Given the description of an element on the screen output the (x, y) to click on. 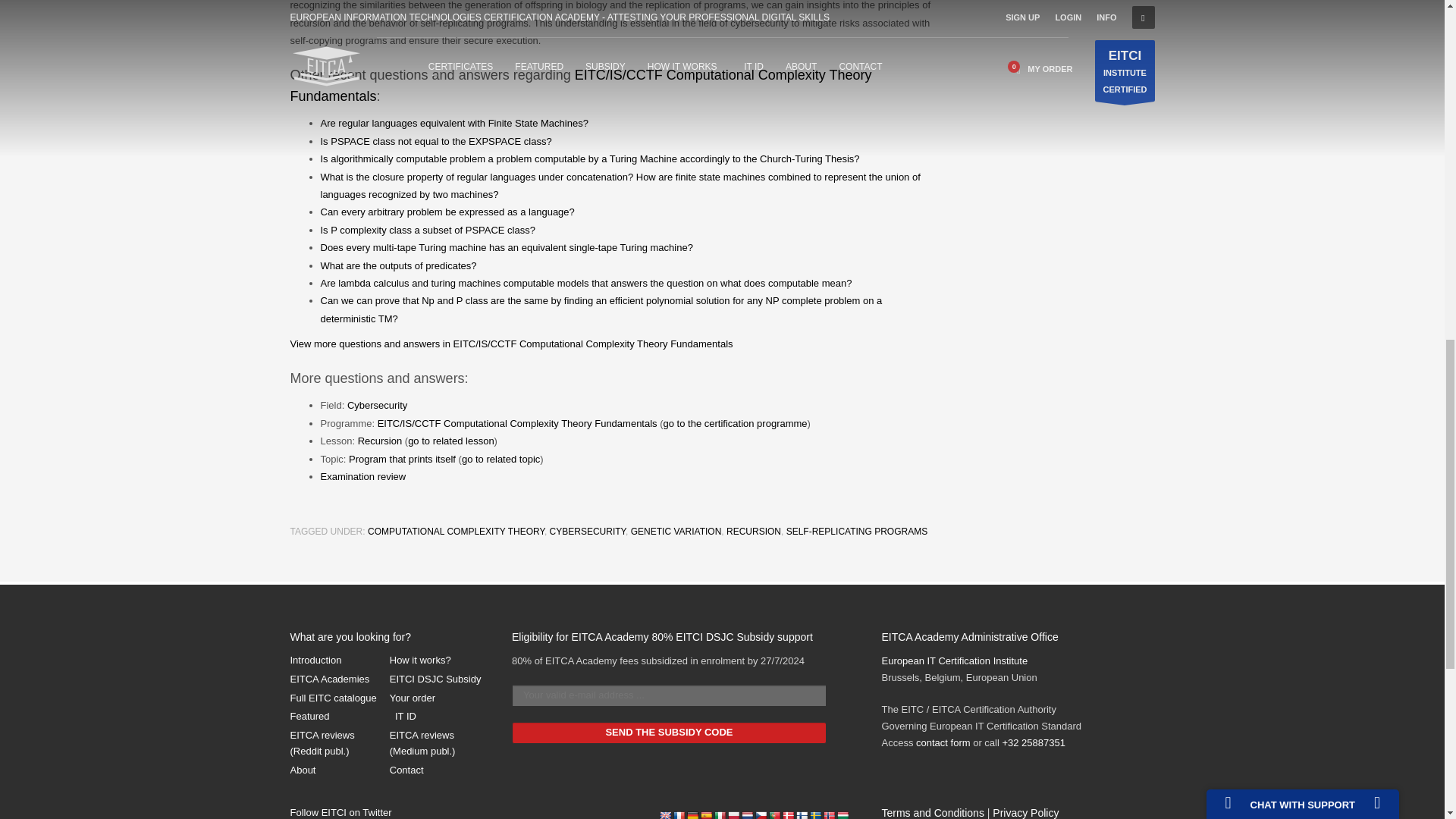
SEND THE SUBSIDY CODE (669, 732)
English (665, 814)
